Given the description of an element on the screen output the (x, y) to click on. 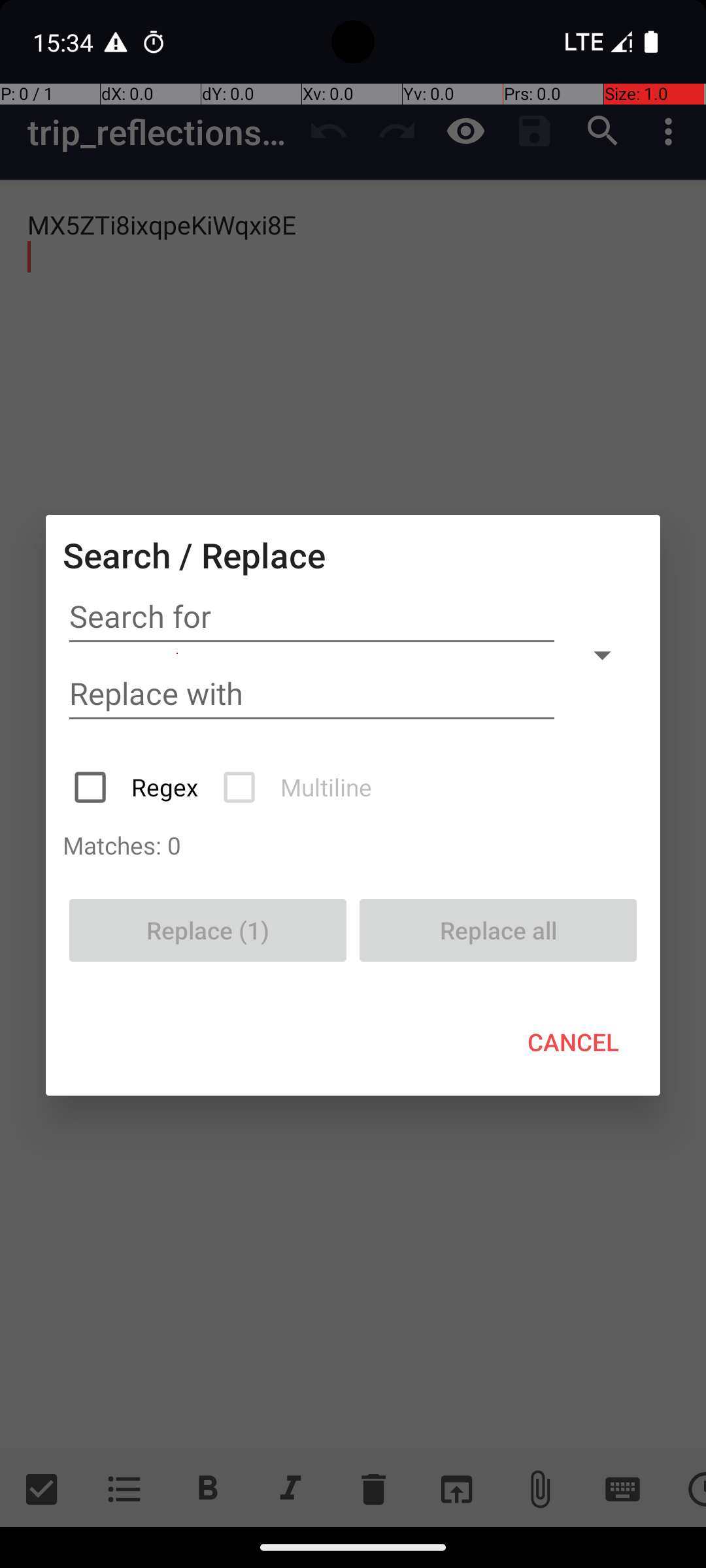
Search / Replace Element type: android.widget.TextView (193, 554)
Search for Element type: android.widget.EditText (311, 616)
Replace with Element type: android.widget.EditText (311, 693)
Choose format Element type: android.widget.TextView (601, 654)
Regex Element type: android.widget.CheckBox (136, 786)
Multiline Element type: android.widget.CheckBox (298, 786)
Matches: 0 Element type: android.widget.TextView (352, 844)
Replace (1) Element type: android.widget.Button (207, 930)
Replace all Element type: android.widget.Button (498, 930)
